Given the description of an element on the screen output the (x, y) to click on. 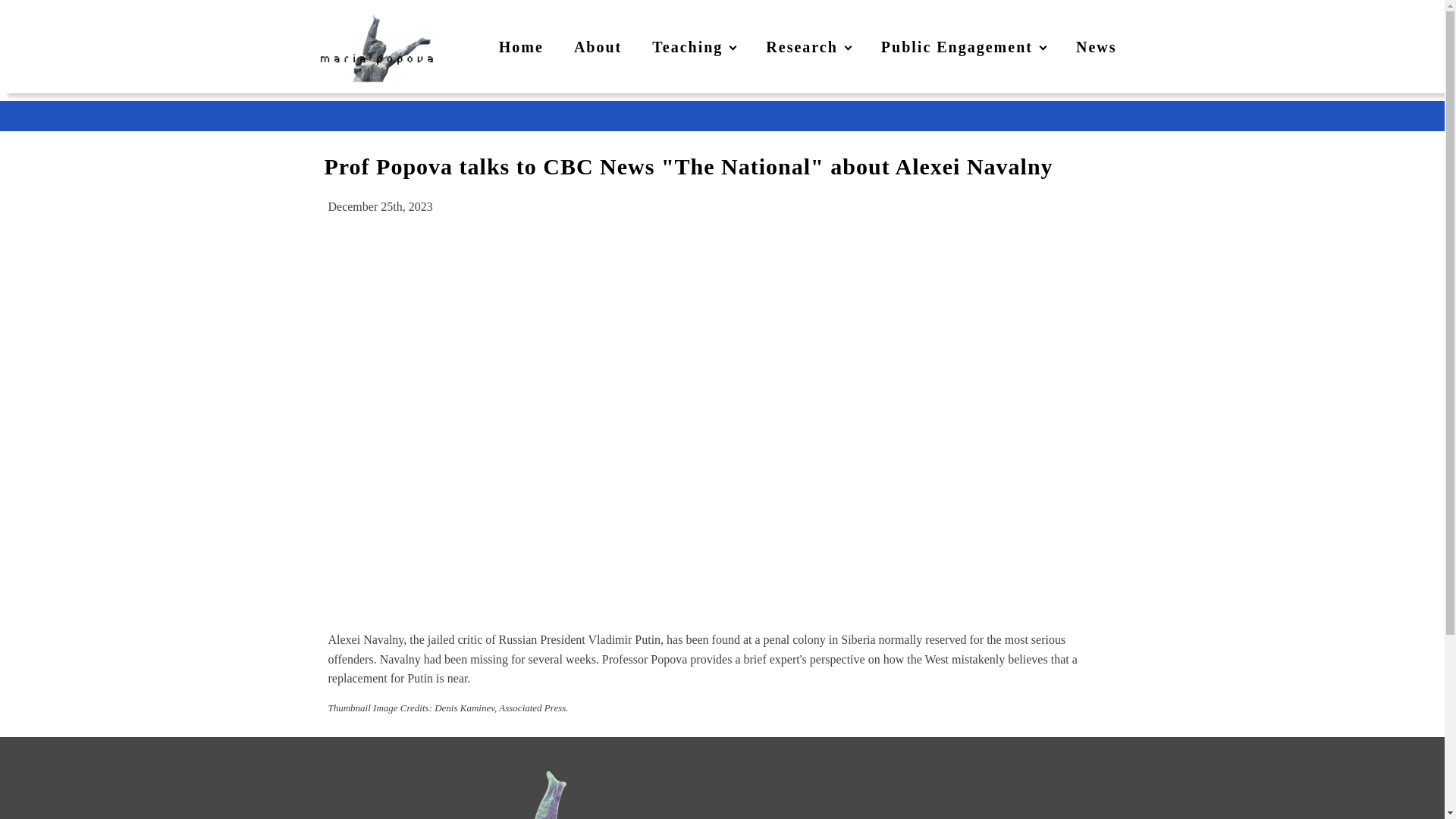
About (598, 46)
Research (808, 46)
Public Engagement (963, 46)
Home (521, 46)
News (1096, 46)
Teaching (694, 46)
